Given the description of an element on the screen output the (x, y) to click on. 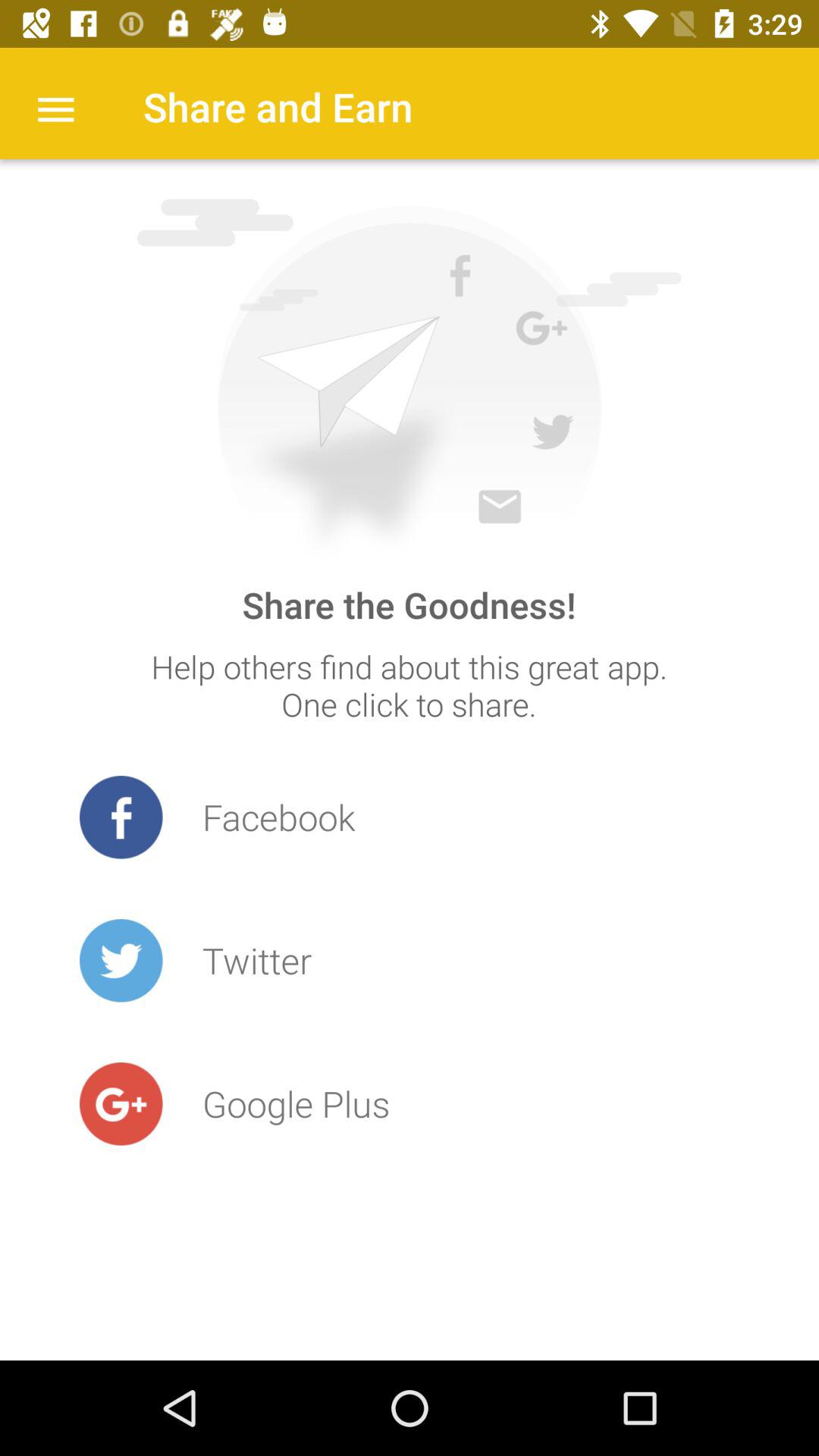
share the image icone (409, 379)
